Given the description of an element on the screen output the (x, y) to click on. 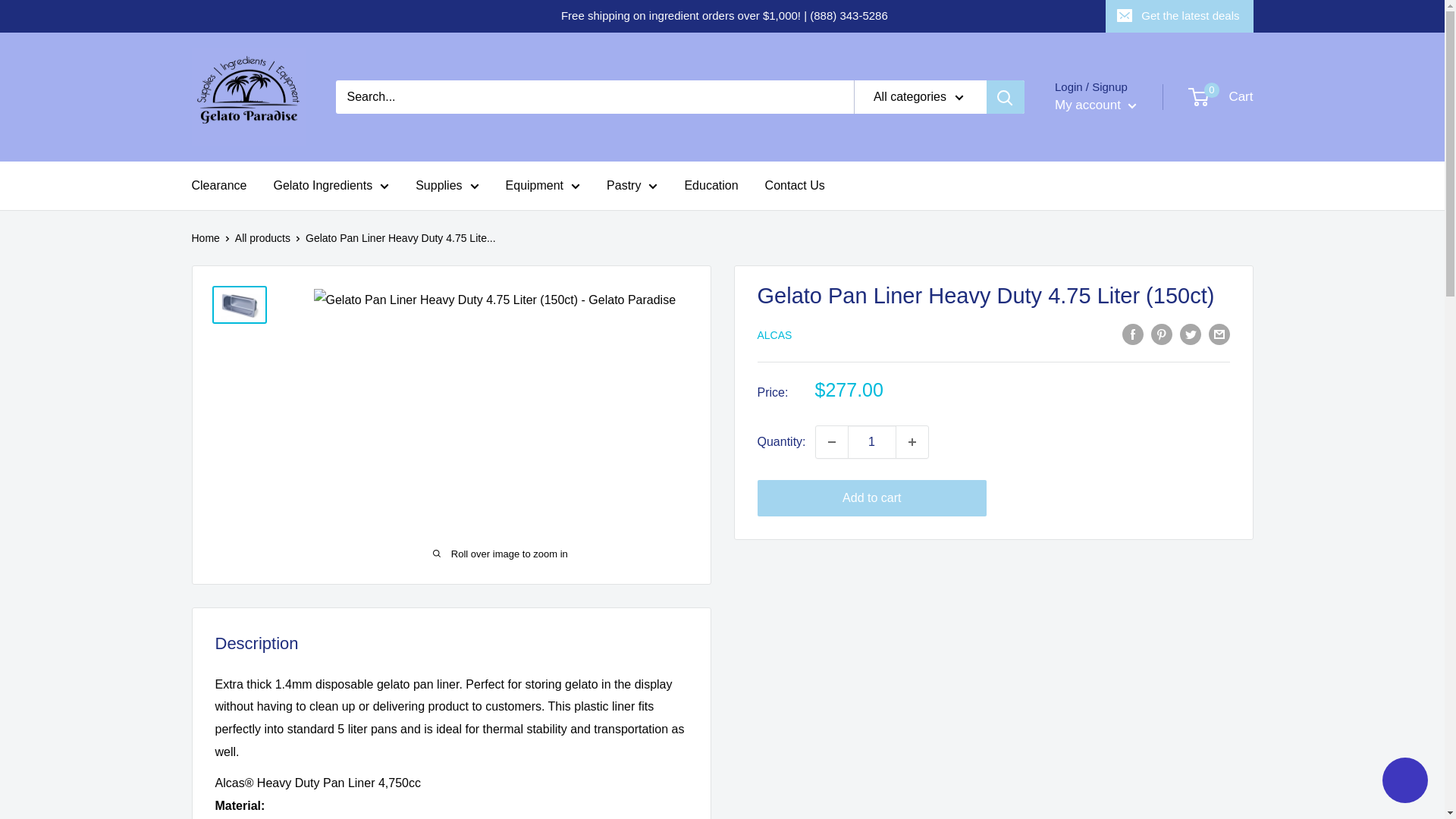
1 (871, 441)
Increase quantity by 1 (912, 441)
Get the latest deals (1178, 15)
Shopify online store chat (1404, 781)
Decrease quantity by 1 (831, 441)
